Given the description of an element on the screen output the (x, y) to click on. 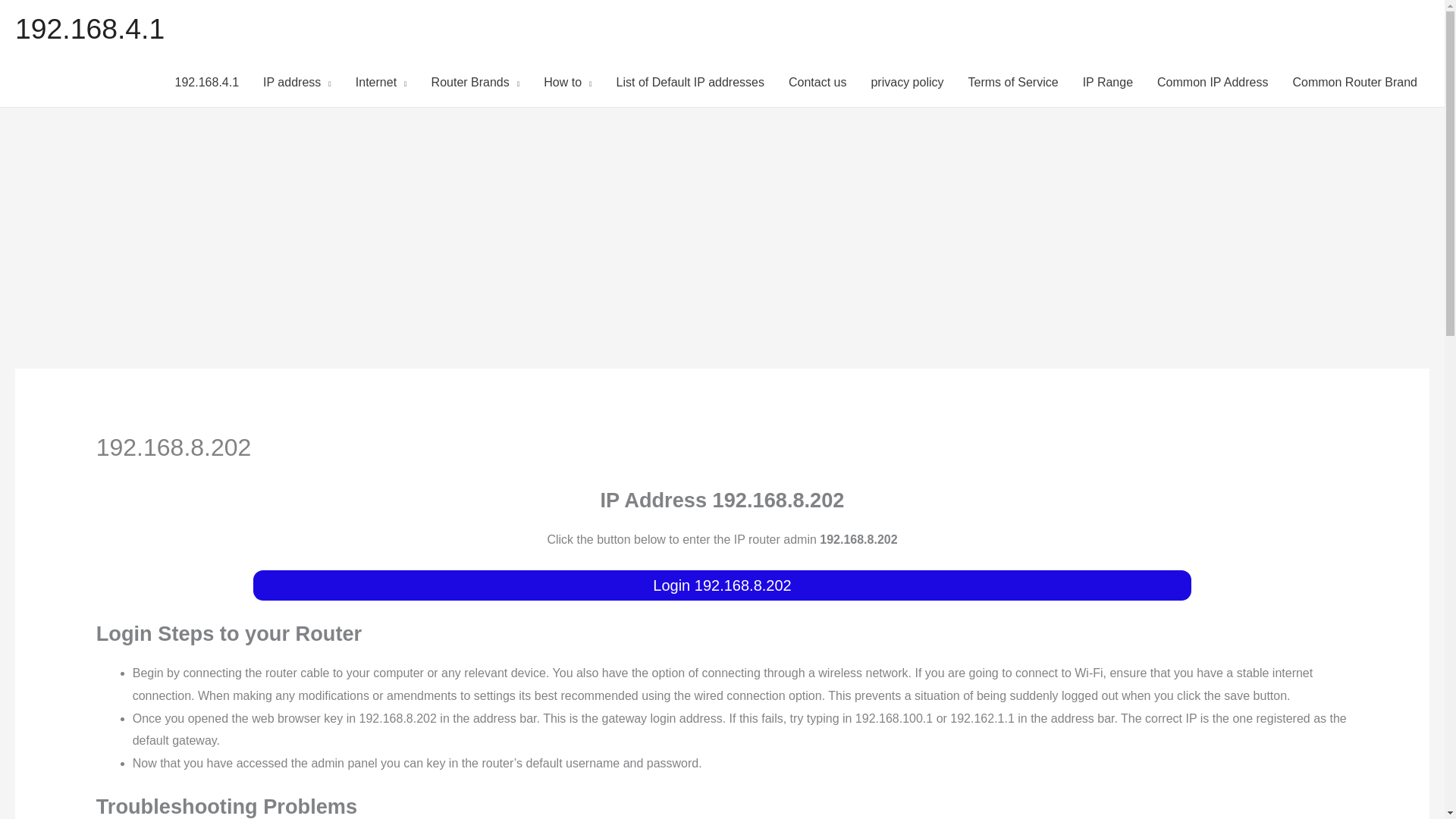
Terms of Service (1012, 82)
Login 192.168.8.202 (722, 585)
Router Brands (475, 82)
How to (567, 82)
192.168.4.1 (207, 82)
Common IP Address (1211, 82)
List of Default IP addresses (690, 82)
IP Range (1107, 82)
privacy policy (907, 82)
IP address (296, 82)
192.168.4.1 (89, 29)
Common Router Brand (1354, 82)
Internet (381, 82)
Contact us (817, 82)
